Given the description of an element on the screen output the (x, y) to click on. 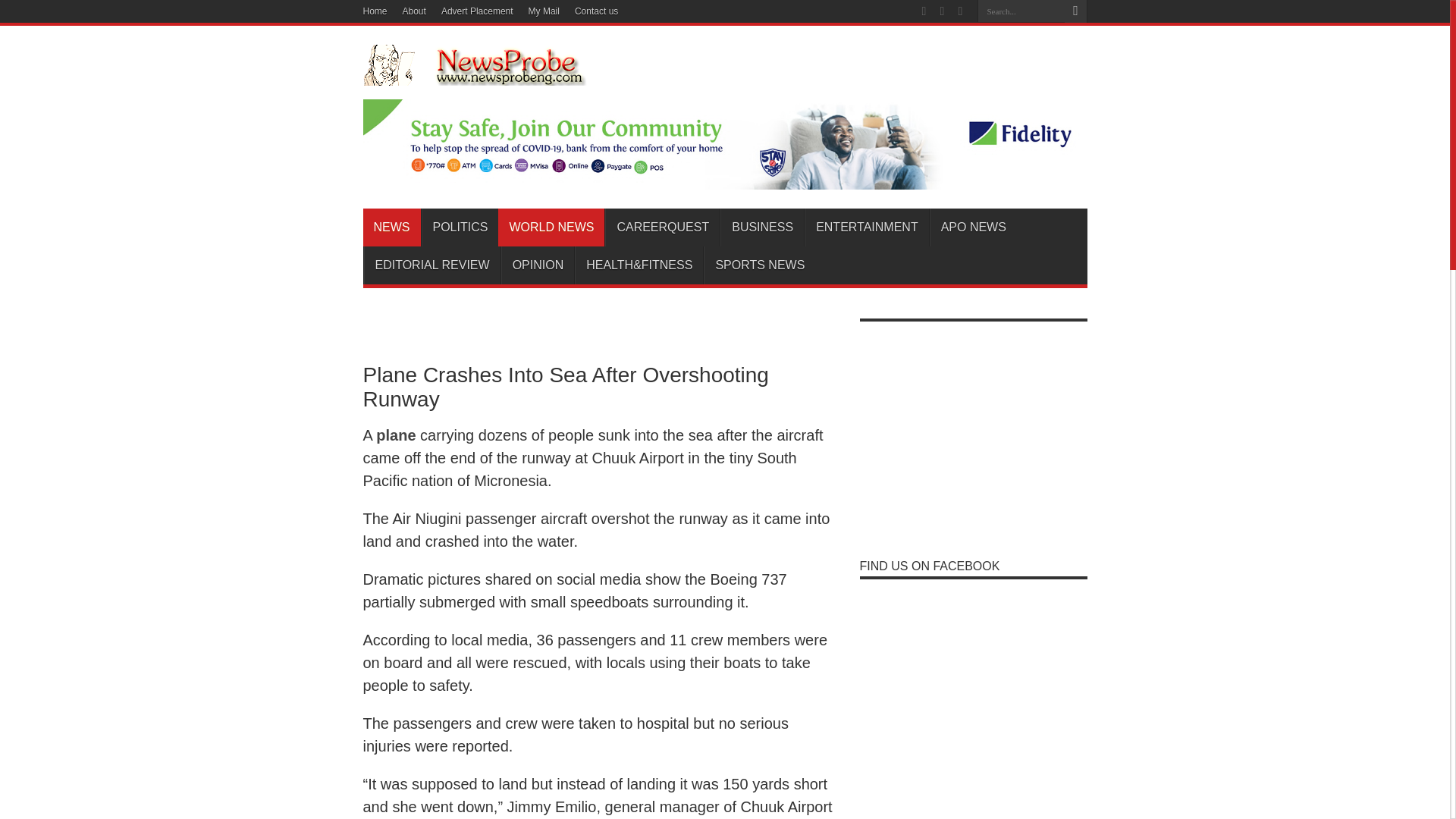
EDITORIAL REVIEW (432, 265)
POLITICS (460, 227)
ENTERTAINMENT (866, 227)
OPINION (537, 265)
About (414, 11)
BUSINESS (761, 227)
NewsProbe (499, 74)
NEWS (391, 227)
SPORTS NEWS (759, 265)
Search... (1020, 11)
